Given the description of an element on the screen output the (x, y) to click on. 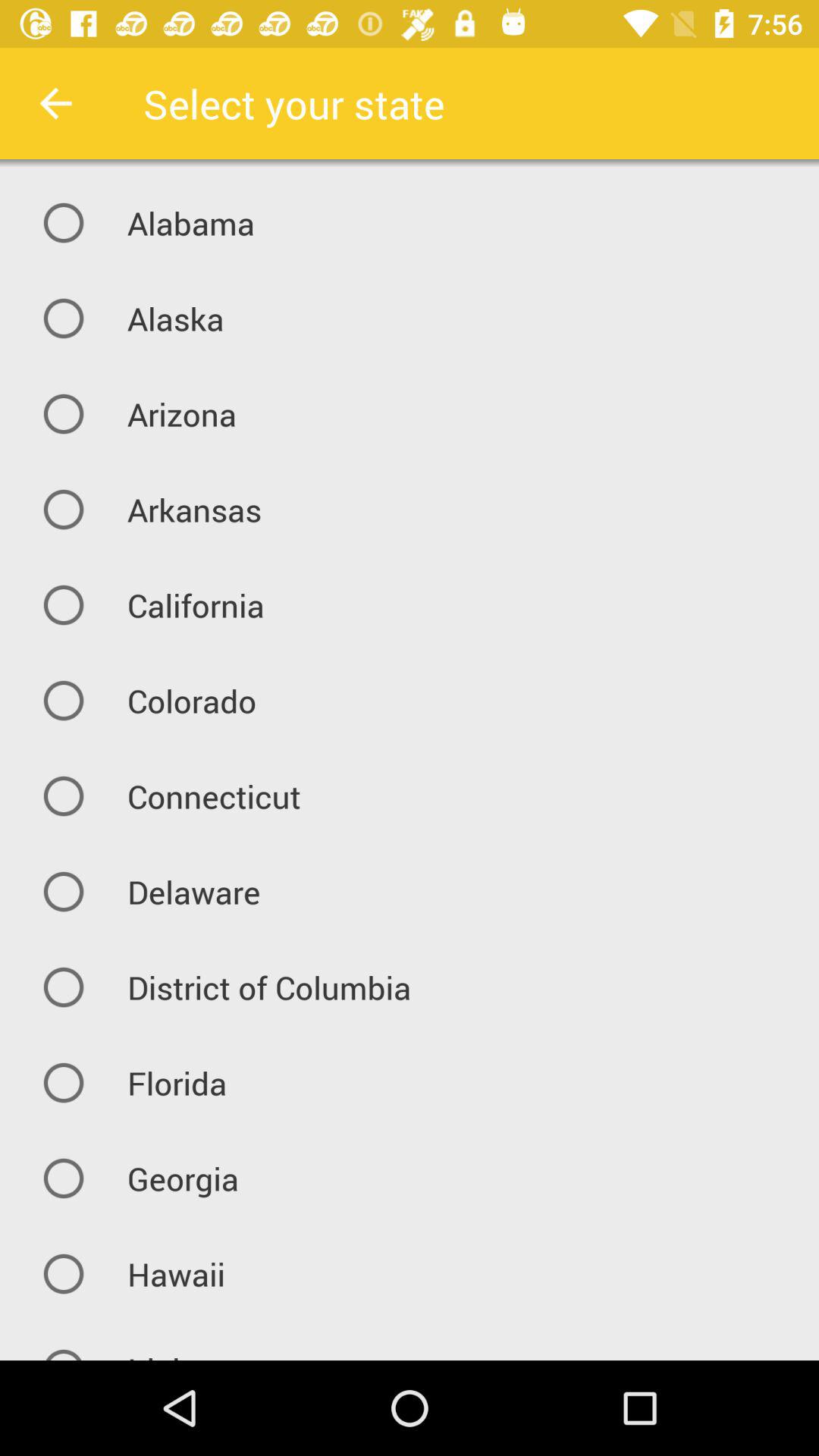
go to previous (55, 103)
